Given the description of an element on the screen output the (x, y) to click on. 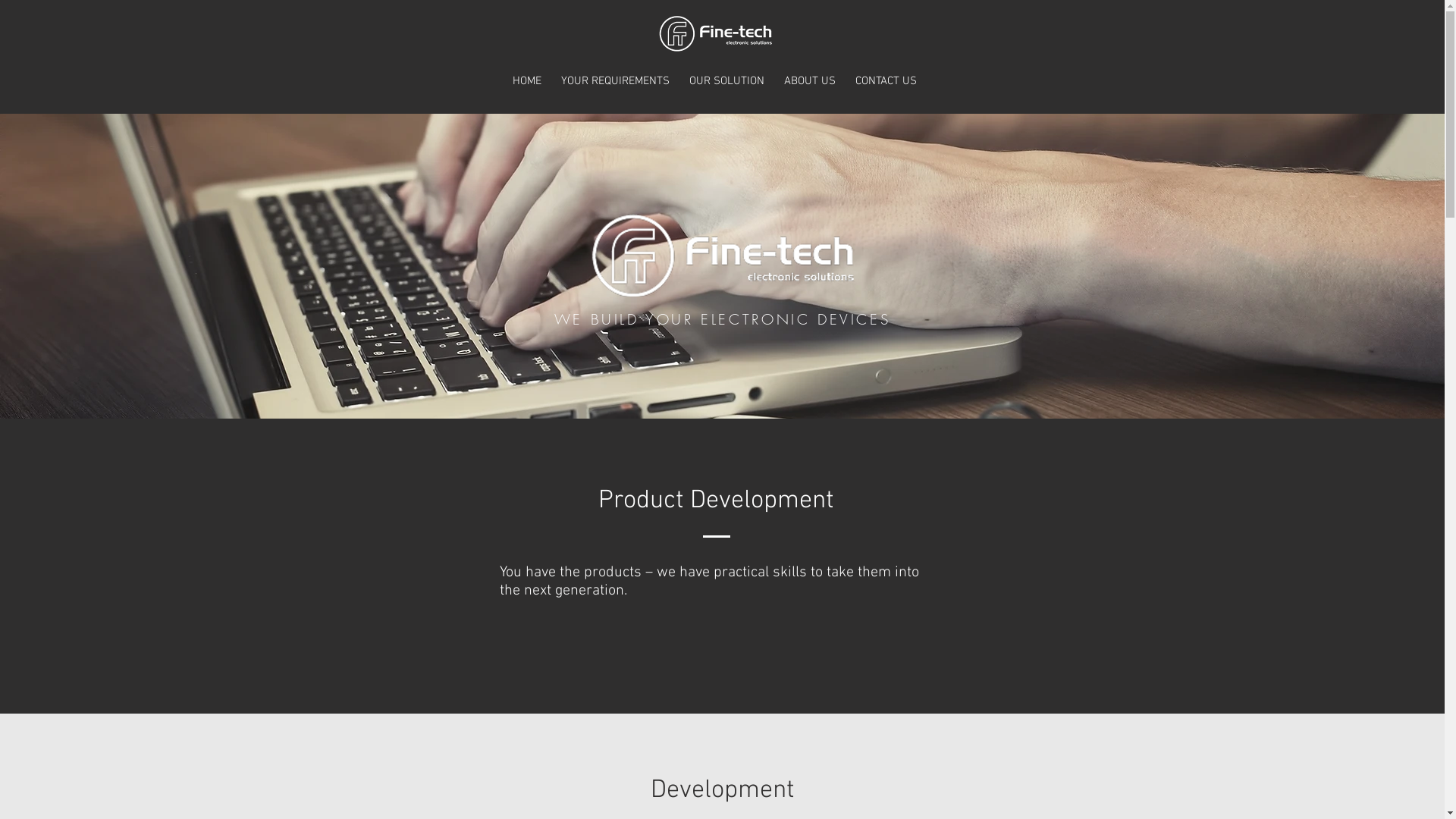
ABOUT US Element type: text (809, 81)
CONTACT US Element type: text (885, 81)
HOME Element type: text (526, 81)
